Given the description of an element on the screen output the (x, y) to click on. 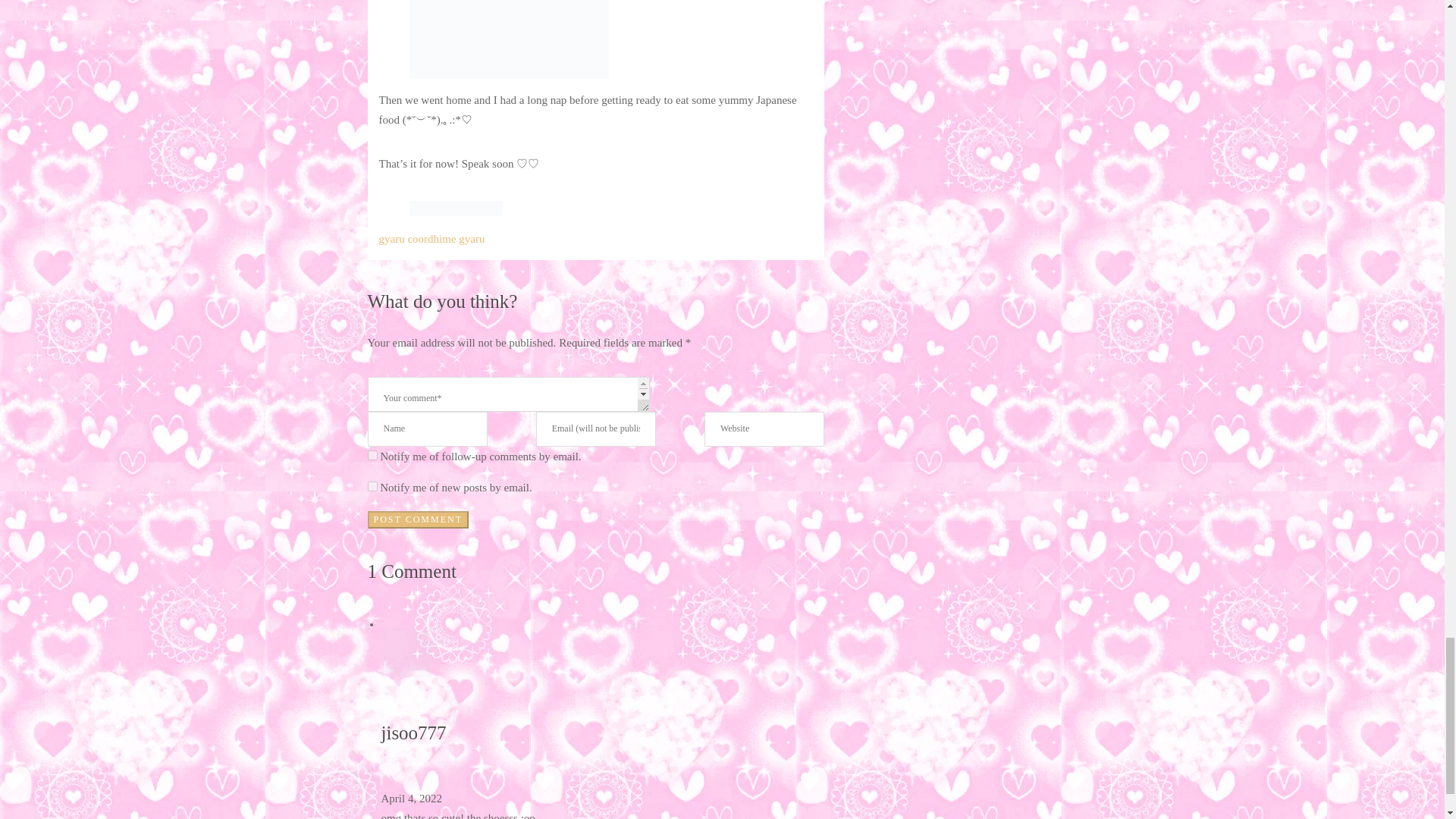
gyaru coord (405, 238)
Post comment (416, 519)
hime gyaru (458, 238)
subscribe (371, 486)
subscribe (371, 455)
